Given the description of an element on the screen output the (x, y) to click on. 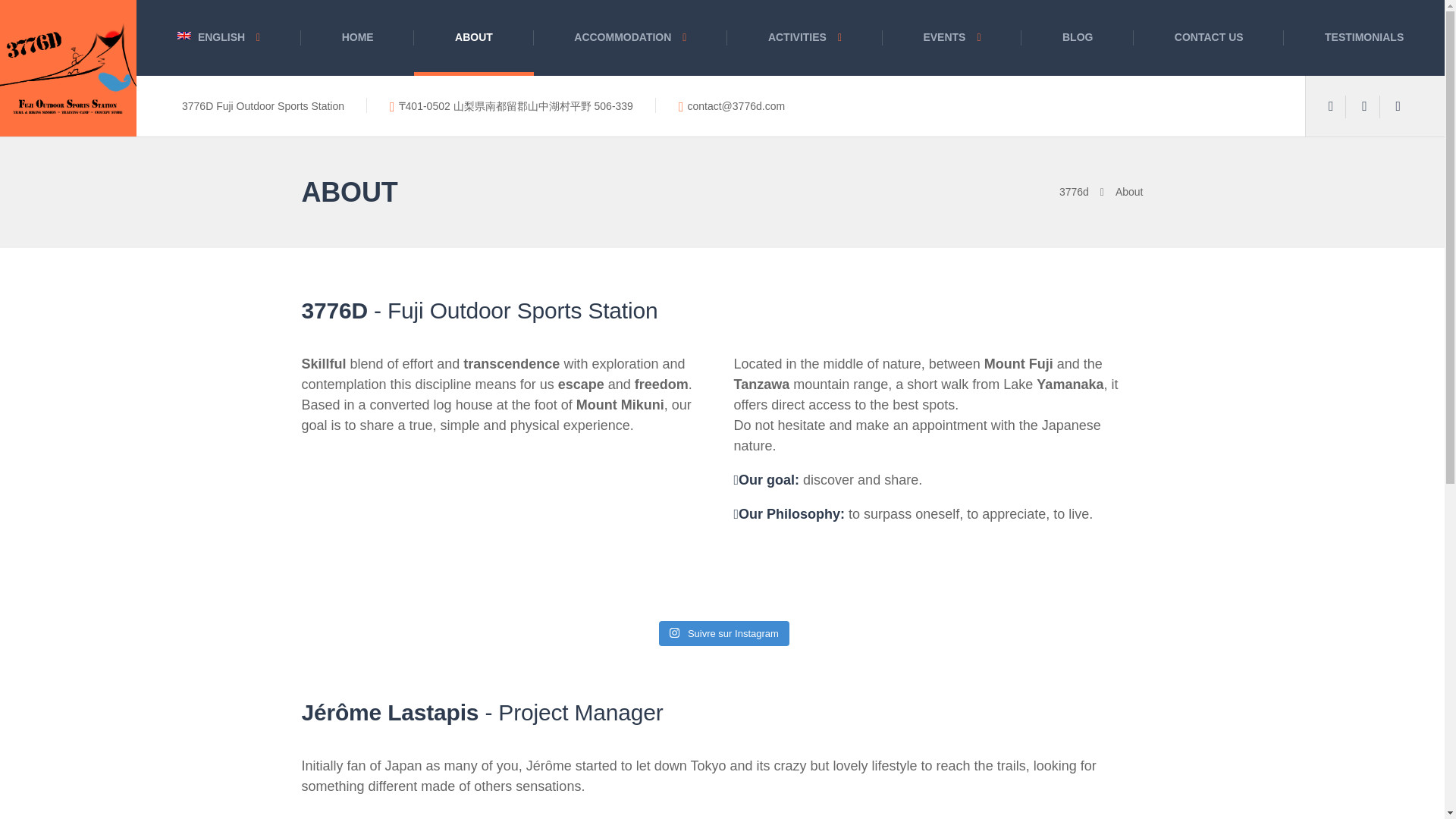
EVENTS (952, 38)
HOME (357, 38)
Suivre sur Instagram (724, 633)
CONTACT US (1209, 38)
English (183, 35)
Go to 3776d. (1087, 191)
BLOG (1078, 38)
ABOUT (472, 38)
English (218, 38)
ENGLISH (218, 38)
